Given the description of an element on the screen output the (x, y) to click on. 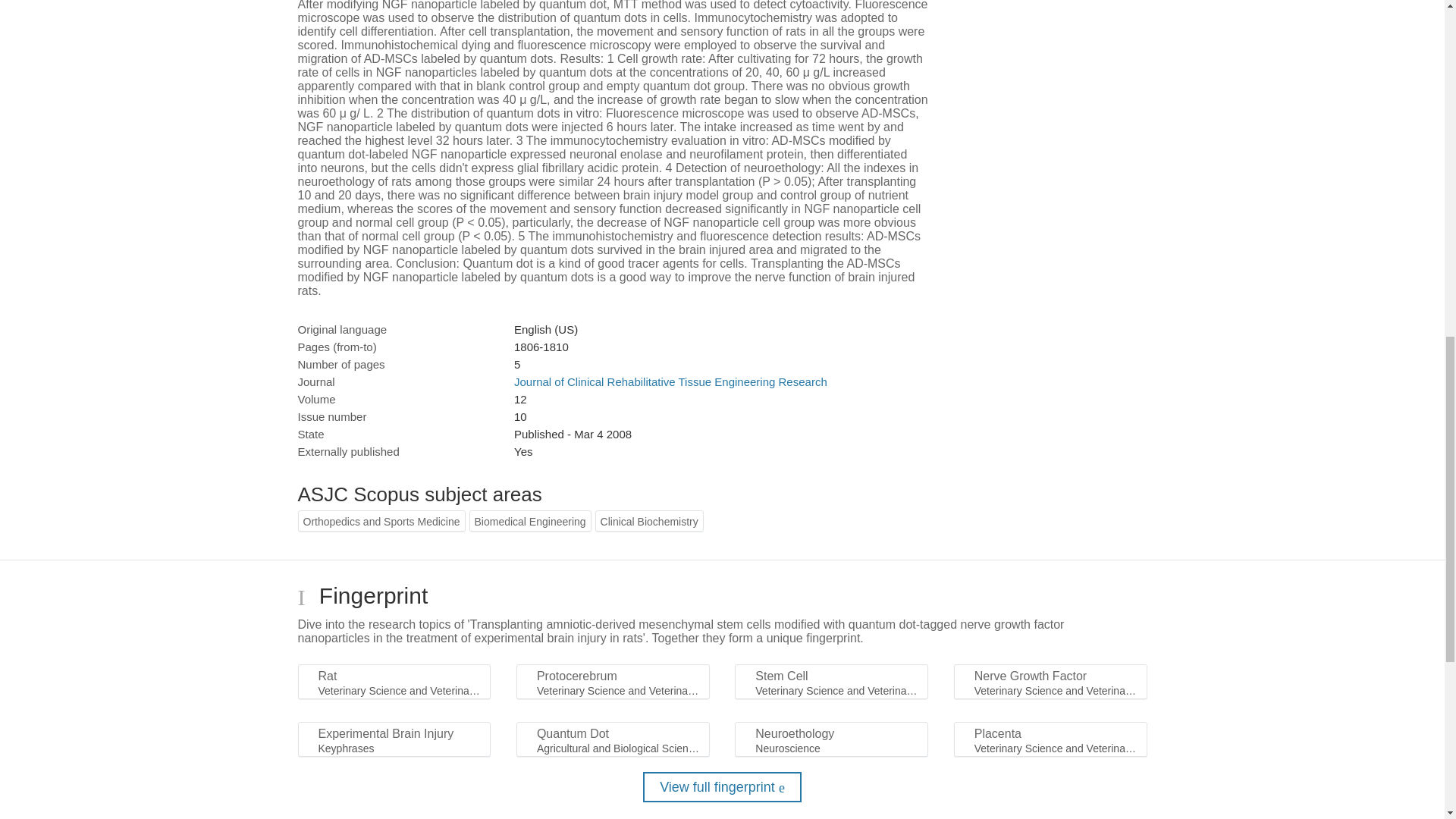
View full fingerprint (722, 787)
